Given the description of an element on the screen output the (x, y) to click on. 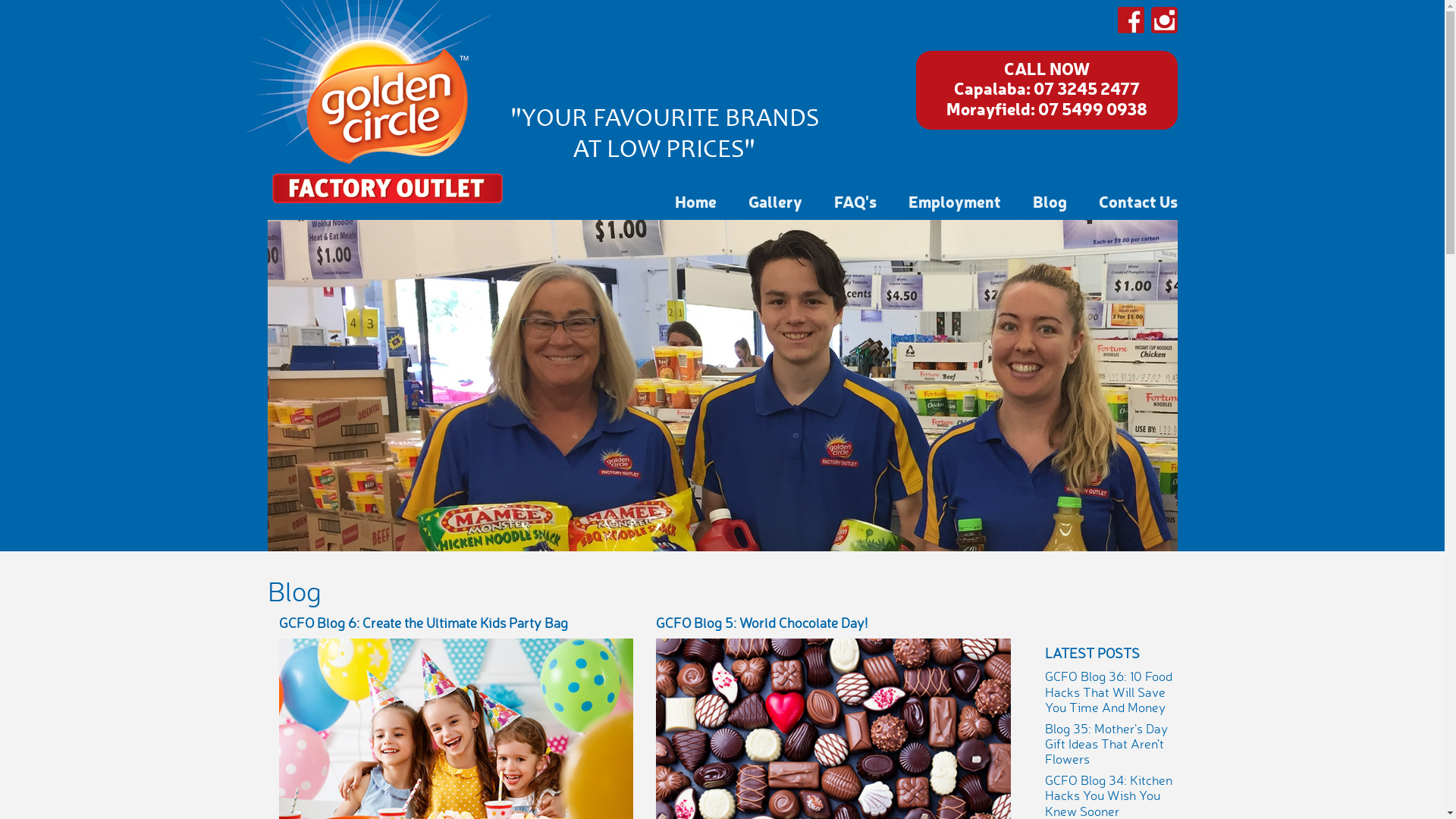
Gallery Element type: text (774, 200)
Blog Element type: text (1049, 200)
Home Element type: text (695, 200)
FAQ's Element type: text (855, 200)
07 3245 2477 Element type: text (1085, 87)
07 5499 0938 Element type: text (1091, 108)
Employment Element type: text (954, 200)
Contact Us Element type: text (1137, 200)
